Given the description of an element on the screen output the (x, y) to click on. 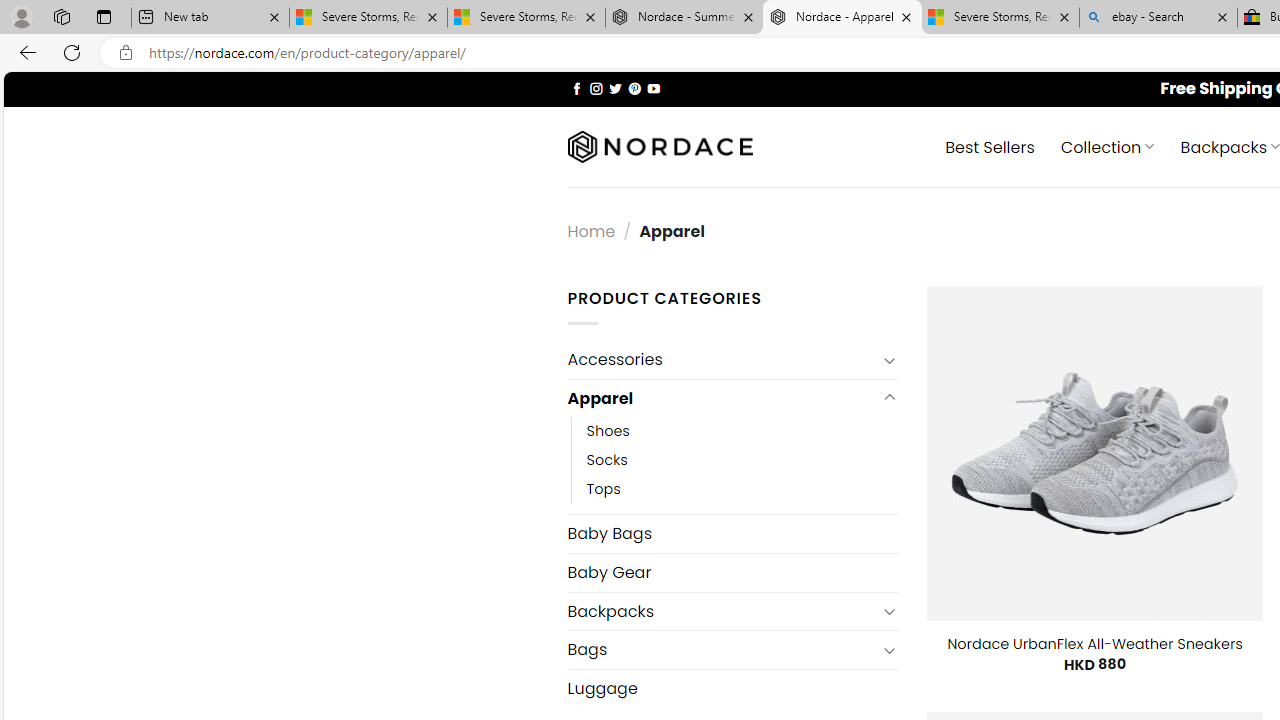
Socks (742, 460)
